Given the description of an element on the screen output the (x, y) to click on. 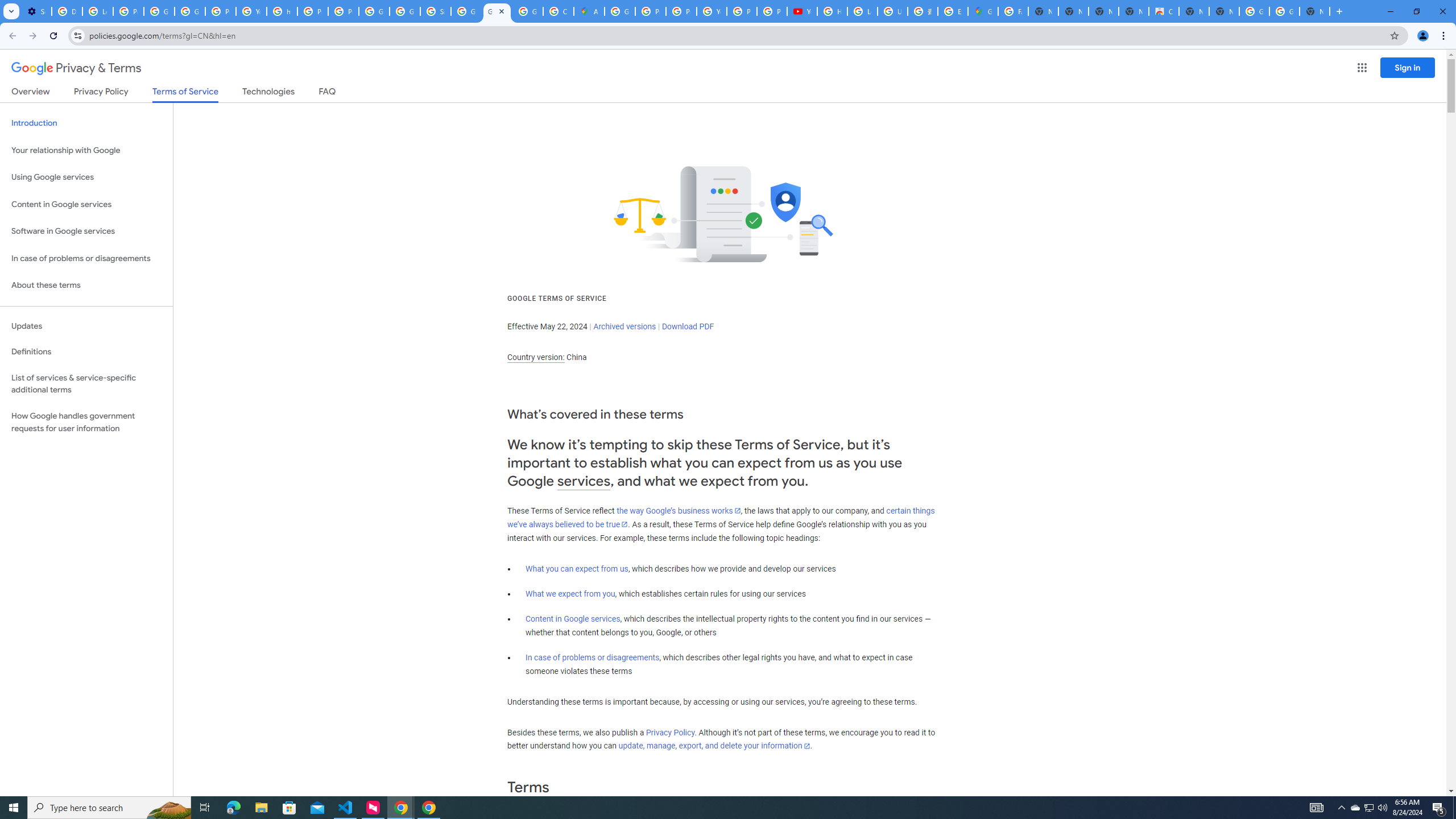
Google Maps (982, 11)
What we expect from you (570, 593)
Sign in - Google Accounts (434, 11)
Privacy Checkup (771, 11)
In case of problems or disagreements (592, 657)
How Google handles government requests for user information (86, 422)
About these terms (86, 284)
